Given the description of an element on the screen output the (x, y) to click on. 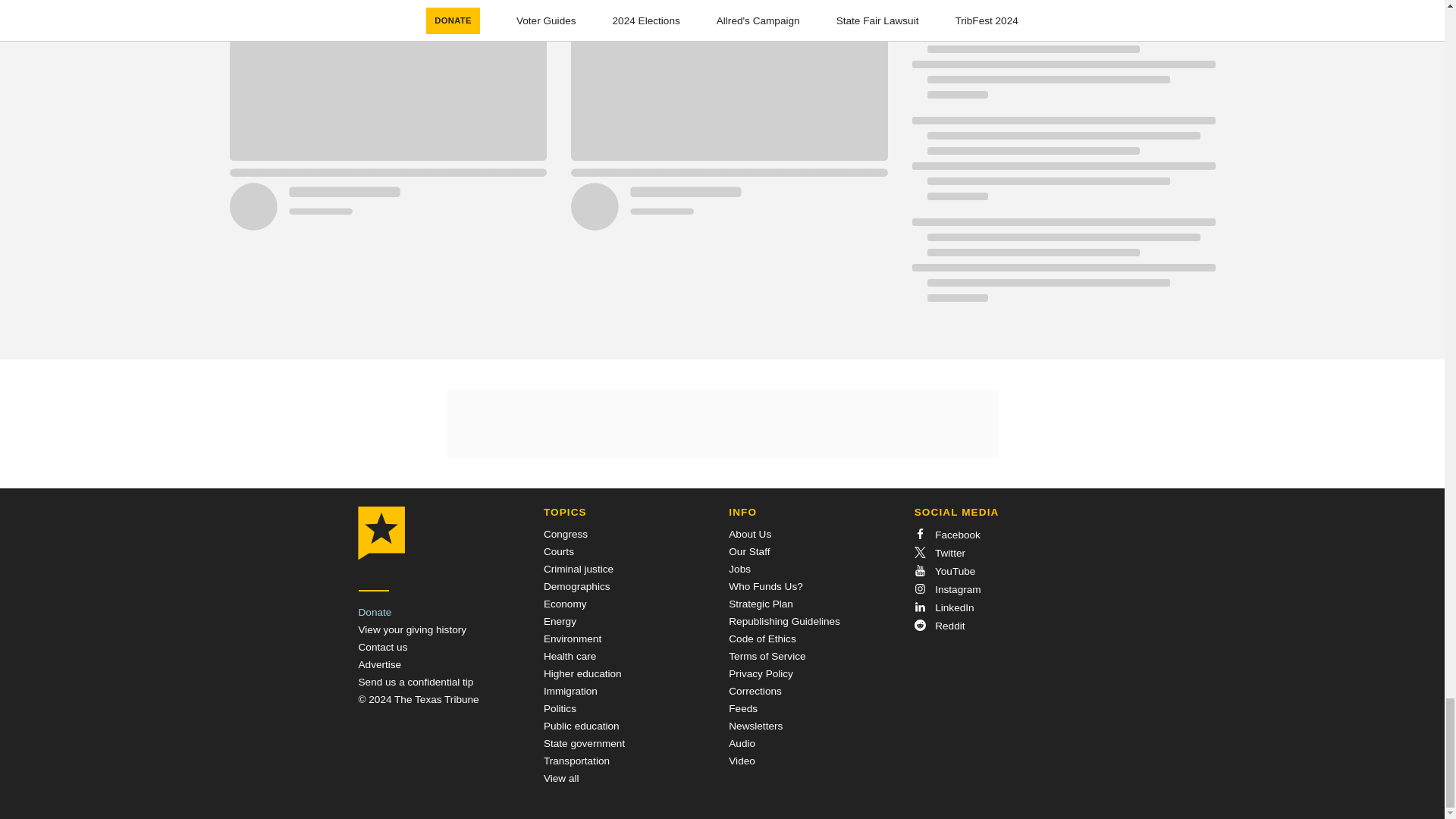
Code of Ethics (761, 638)
Newsletters (756, 726)
Audio (742, 743)
Loading indicator (1062, 166)
Contact us (382, 646)
Feeds (743, 708)
Loading indicator (1062, 5)
Send a Tip (415, 681)
View your giving history (411, 629)
Loading indicator (1062, 64)
